Given the description of an element on the screen output the (x, y) to click on. 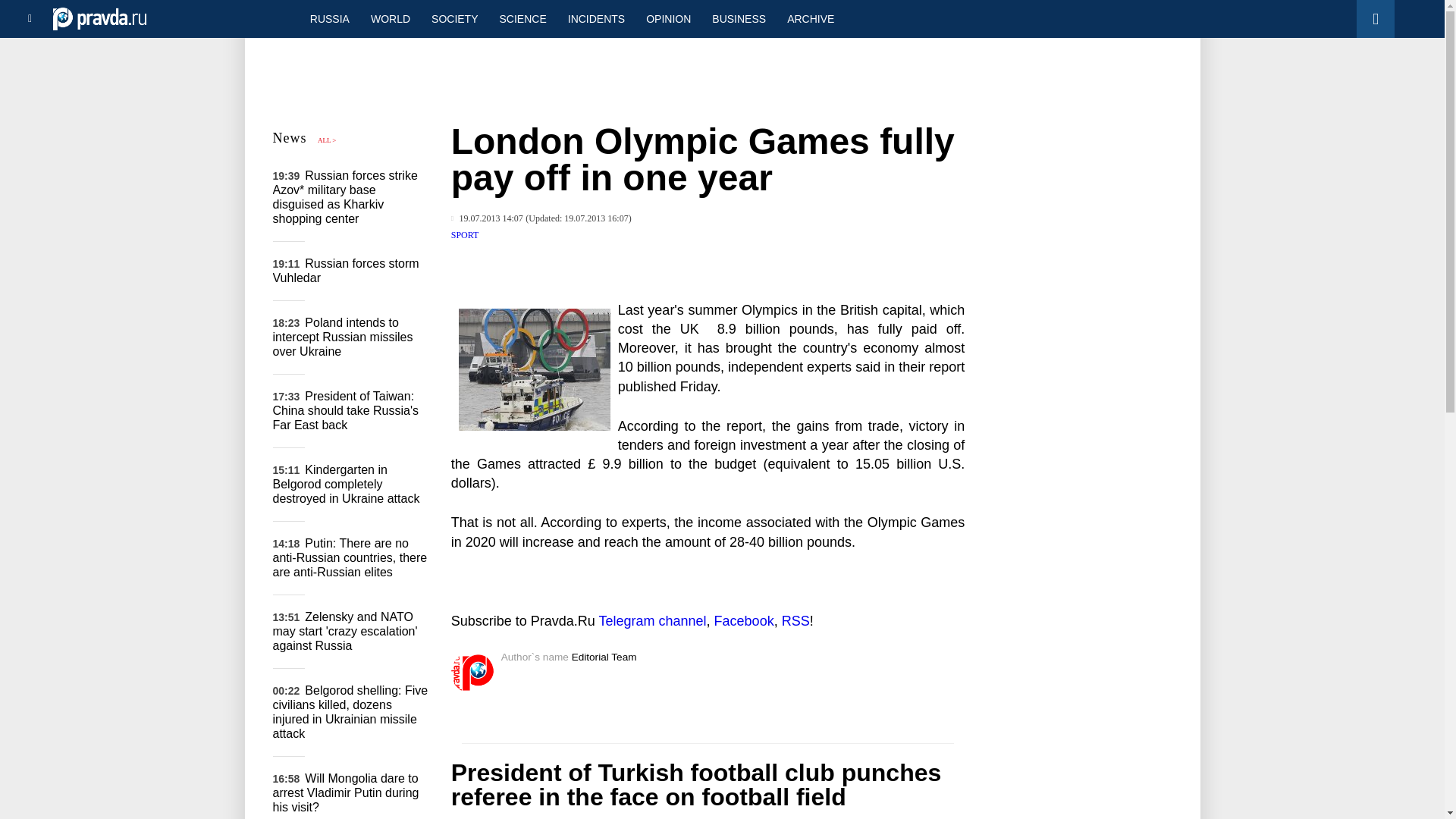
RUSSIA (329, 18)
London Olympic Games fully pay off in one year. 50654.jpeg (534, 369)
Russian forces storm Vuhledar (346, 270)
SOCIETY (453, 18)
INCIDENTS (595, 18)
BUSINESS (738, 18)
